Given the description of an element on the screen output the (x, y) to click on. 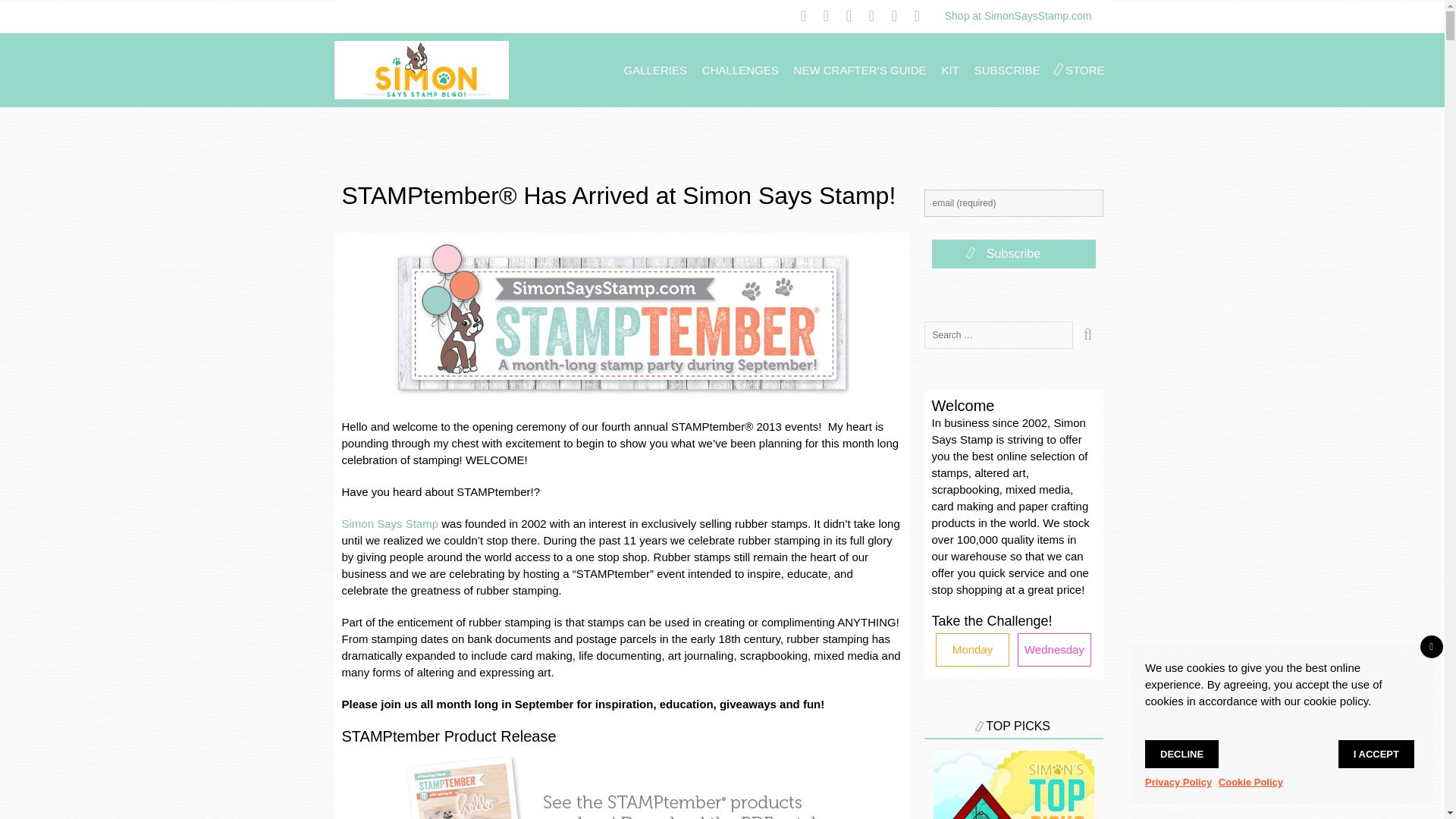
CHALLENGES (739, 69)
SUBSCRIBE (1007, 69)
Search (1086, 334)
Shop at SimonSaysStamp.com (1018, 15)
GALLERIES (655, 69)
STORE (1084, 69)
KIT (950, 69)
Simon Says Stamp (389, 522)
Subscribe (1012, 253)
Search (1086, 334)
